Given the description of an element on the screen output the (x, y) to click on. 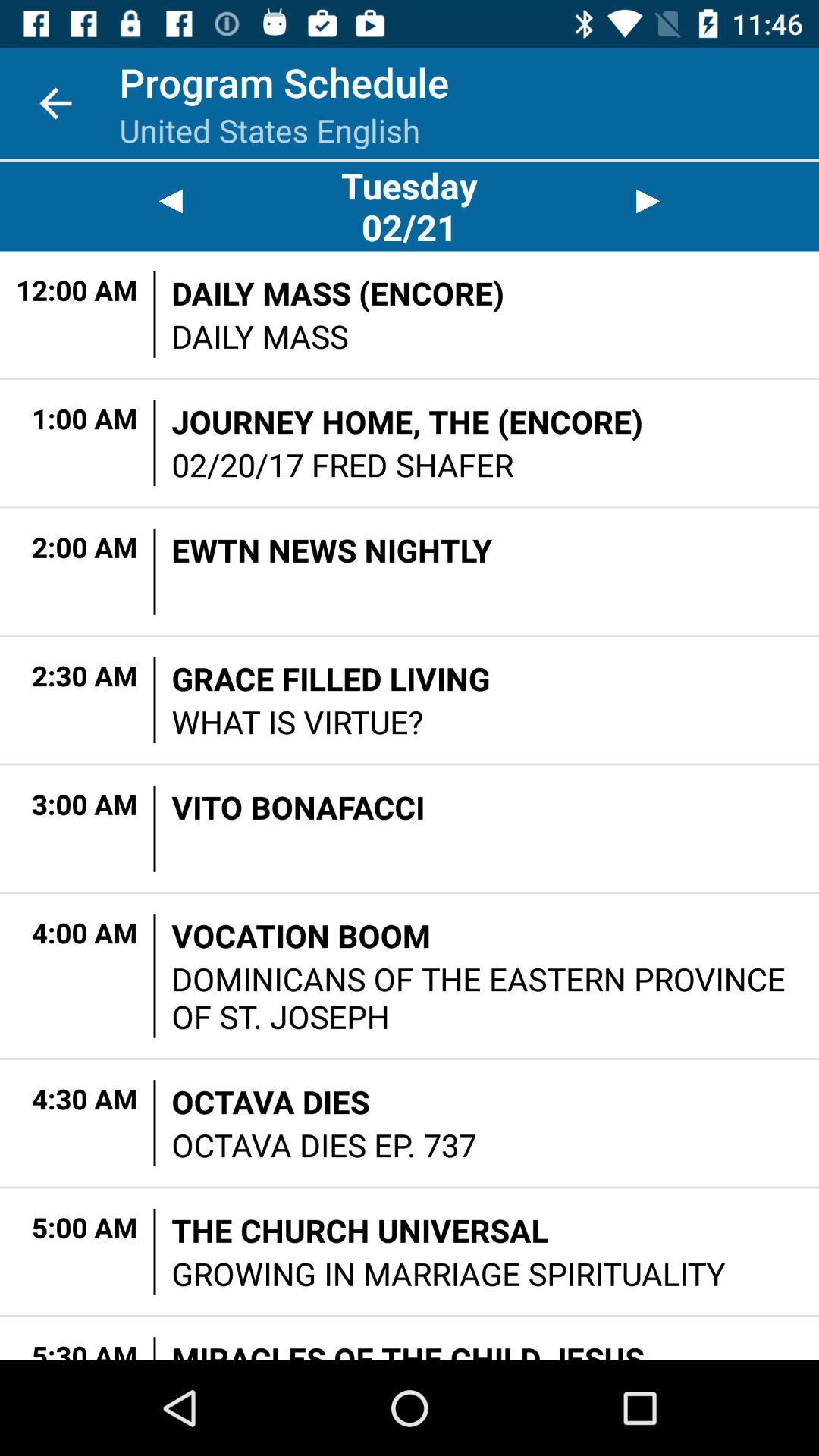
turn on the icon next to the octava dies item (154, 1123)
